Given the description of an element on the screen output the (x, y) to click on. 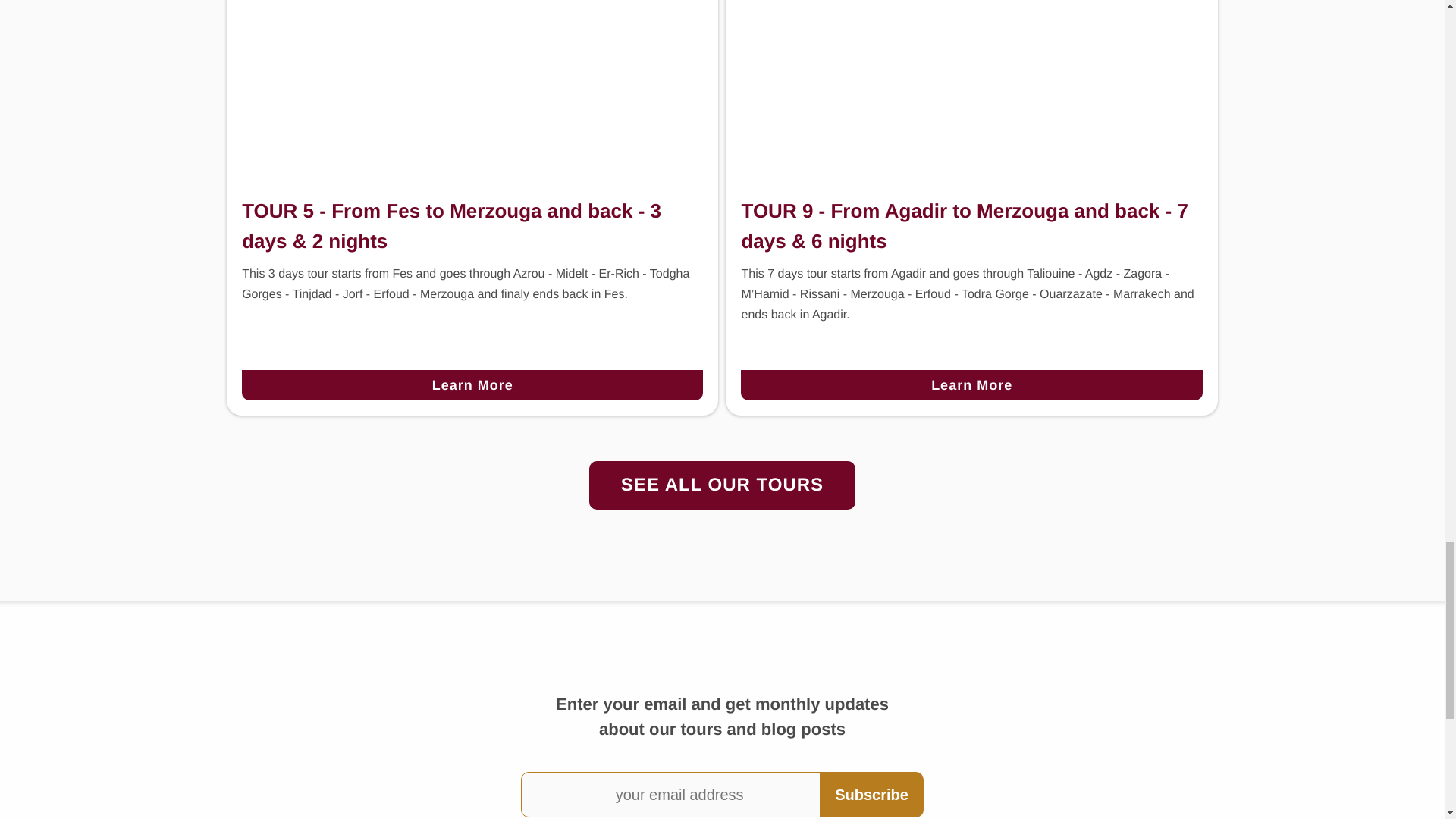
Learn More (971, 385)
Learn More (472, 385)
Subscribe (871, 794)
